Given the description of an element on the screen output the (x, y) to click on. 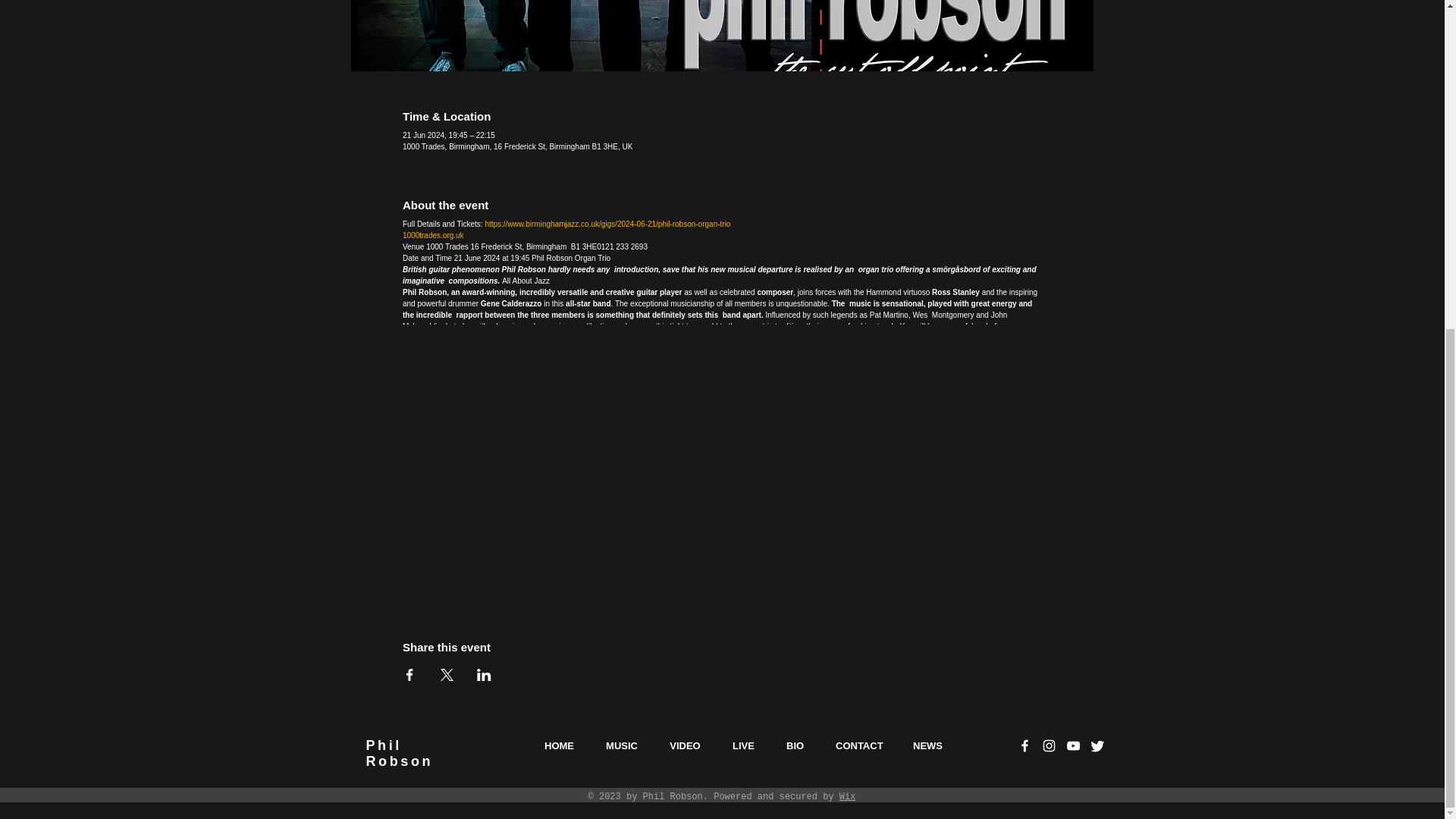
LIVE (743, 202)
VIDEO (684, 202)
NEWS (927, 202)
CONTACT (398, 209)
1000trades.org.uk (857, 202)
Wix (433, 234)
MUSIC (848, 253)
HOME (621, 202)
BIO (558, 202)
